Given the description of an element on the screen output the (x, y) to click on. 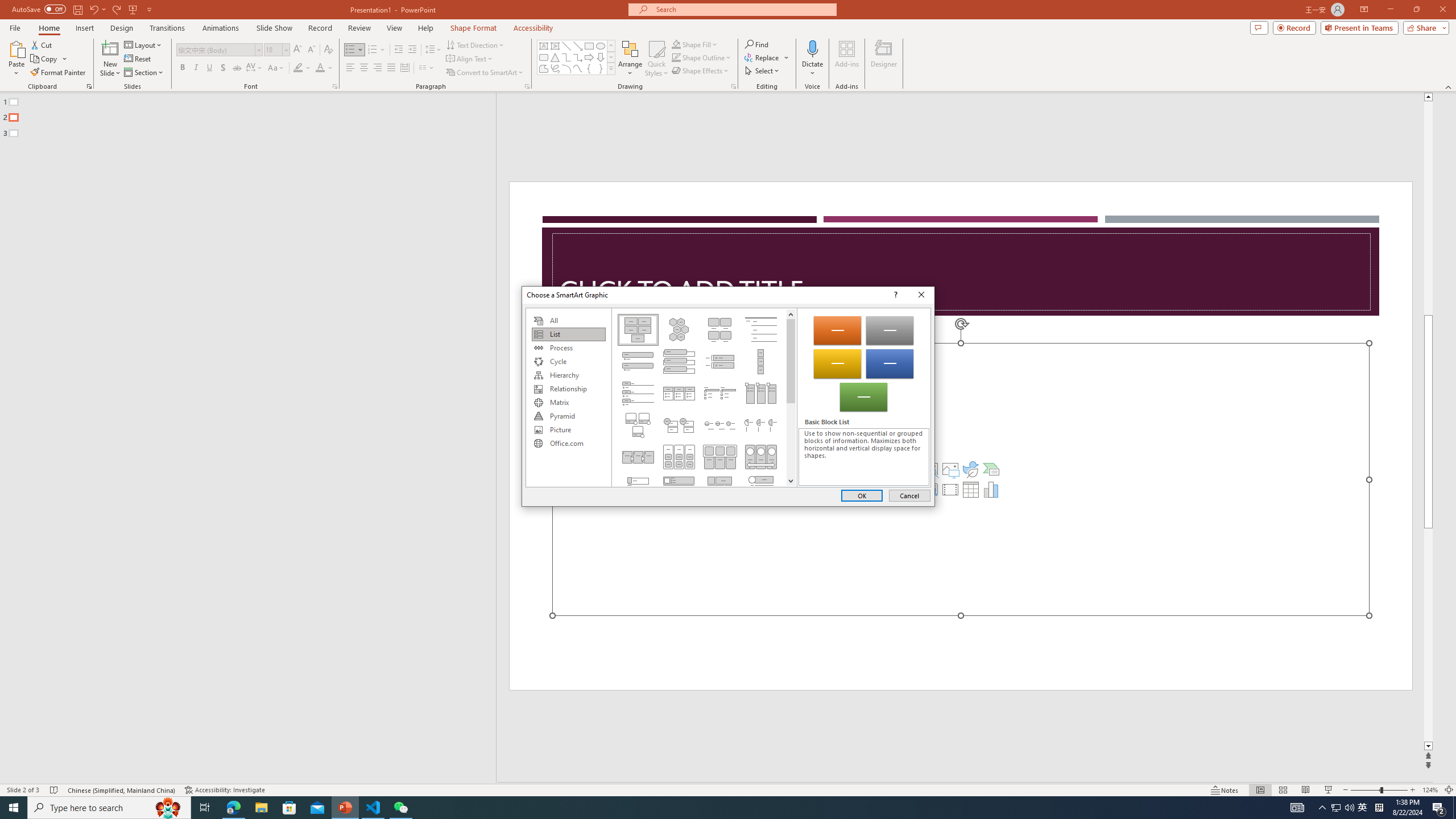
Dictate (812, 58)
Minimize (1390, 9)
Connector: Elbow Arrow (577, 57)
Font (215, 49)
Relationship (568, 388)
Shadow (223, 67)
Continuous Picture List (761, 457)
Line up (1362, 807)
Rectangle (790, 314)
Connector: Elbow (589, 45)
Save (566, 57)
Paste (77, 9)
Section (16, 58)
Copy (144, 72)
